Given the description of an element on the screen output the (x, y) to click on. 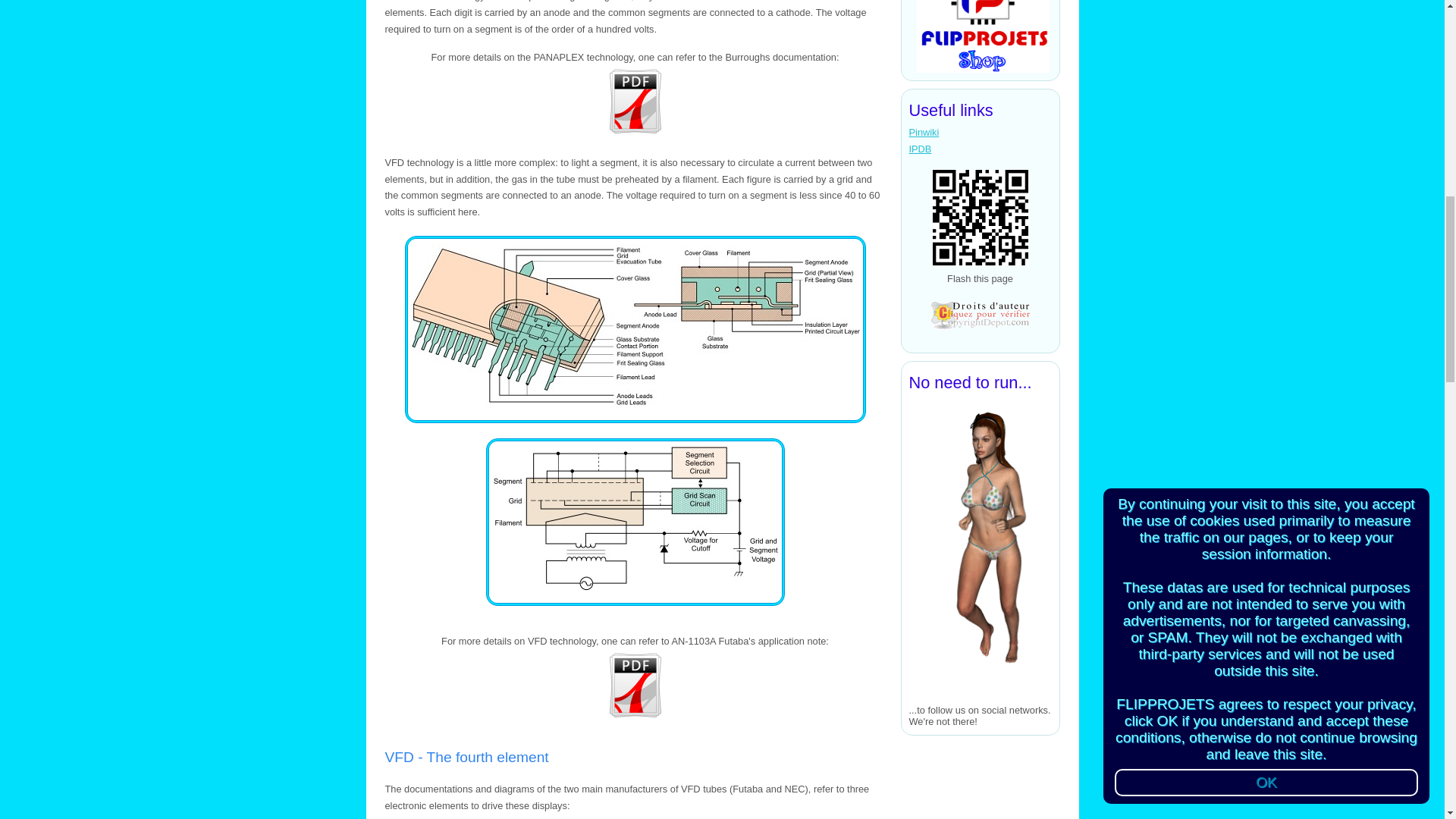
Pinwiki (923, 132)
IPDB (919, 148)
